Given the description of an element on the screen output the (x, y) to click on. 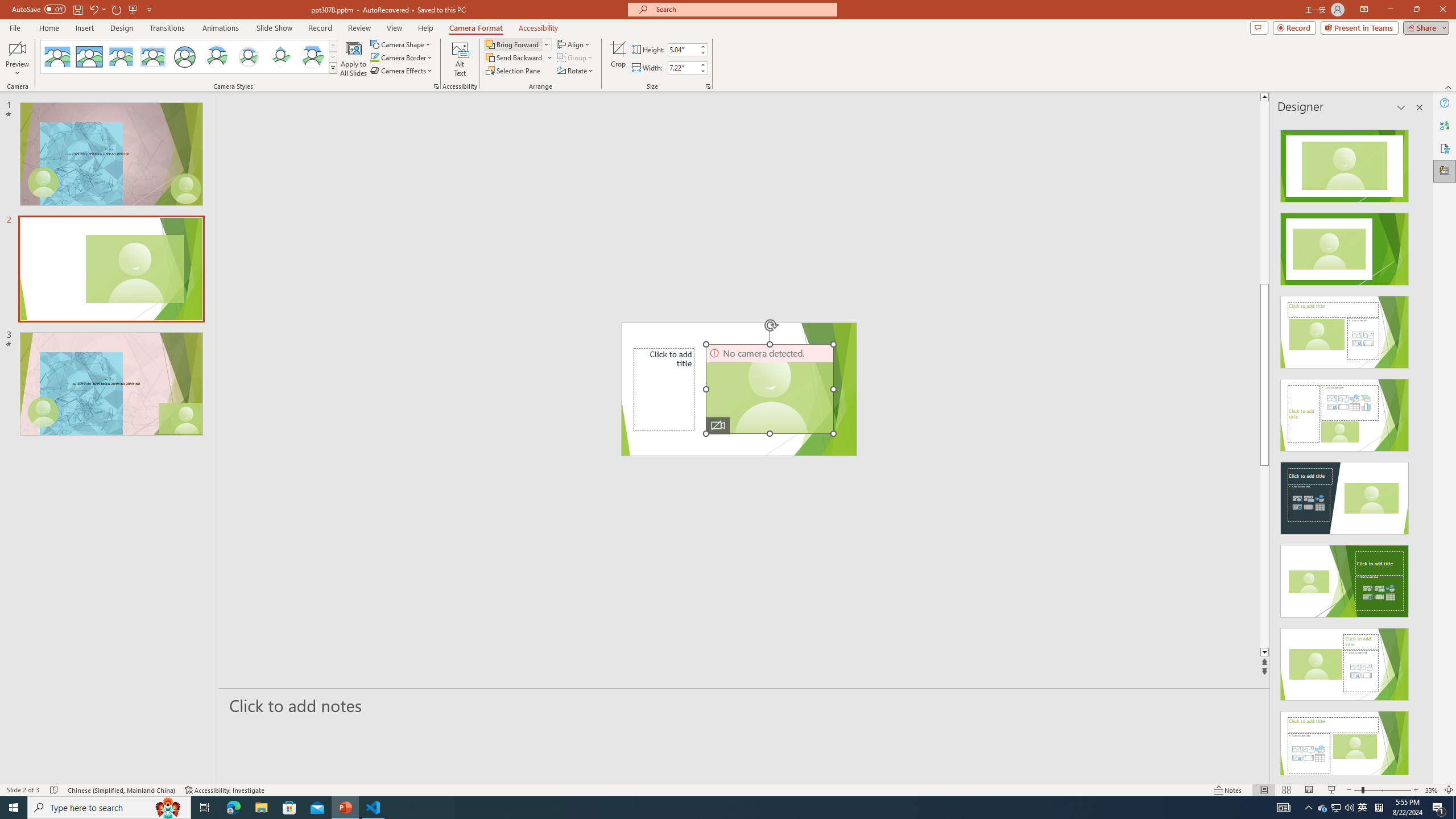
Center Shadow Hexagon (312, 56)
Camera Effects (402, 69)
Send Backward (514, 56)
Apply to All Slides (353, 58)
Center Shadow Circle (216, 56)
